Given the description of an element on the screen output the (x, y) to click on. 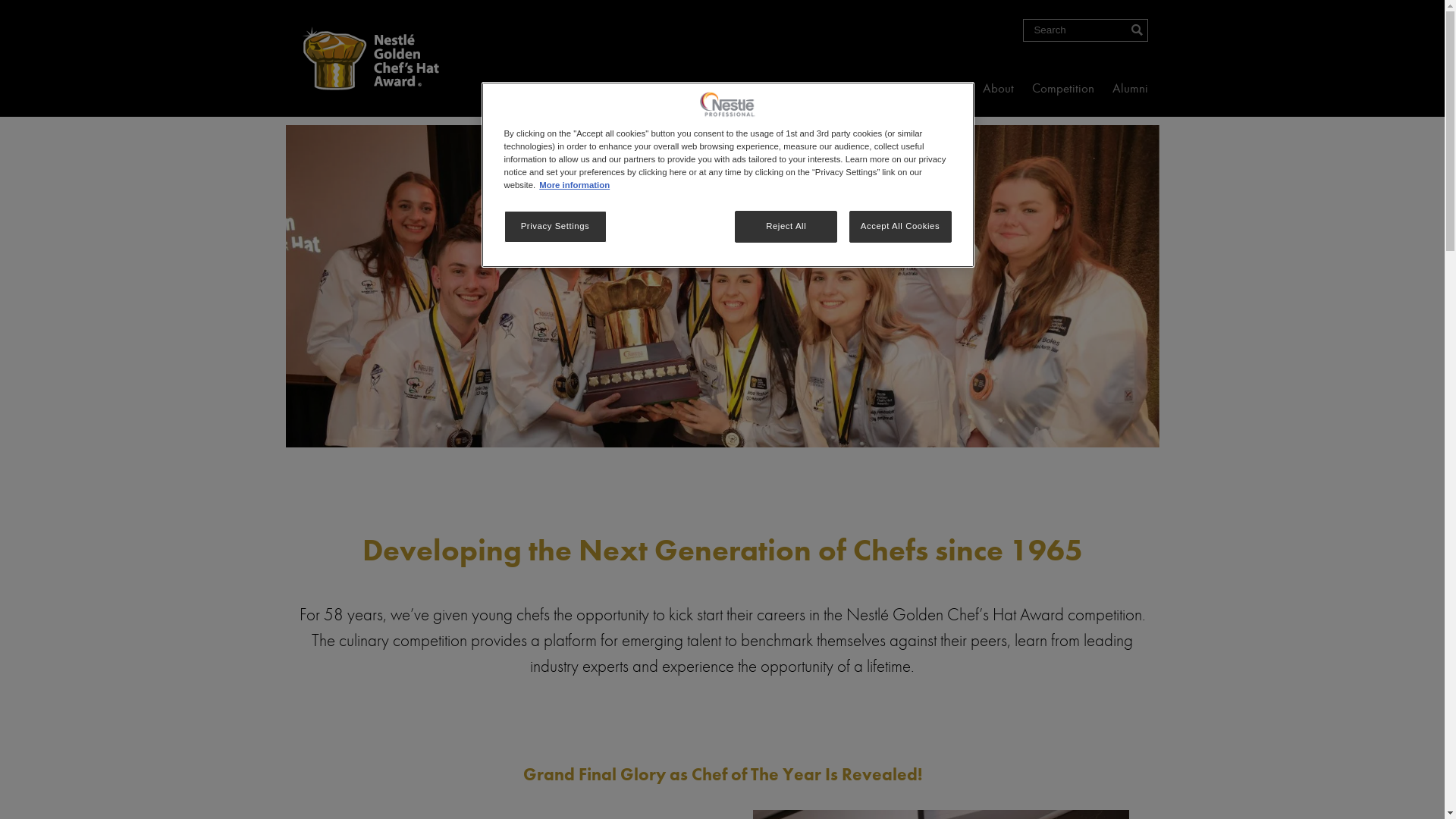
Privacy Settings Element type: text (554, 226)
About Element type: text (997, 88)
More information Element type: text (574, 184)
Enter the terms you wish to search for. Element type: hover (1084, 29)
Company Logo Element type: hover (727, 104)
Skip to main content Element type: text (0, 0)
Reject All Element type: text (785, 226)
Accept All Cookies Element type: text (900, 226)
Alumni Element type: text (1129, 88)
Competition Element type: text (1063, 88)
Search Element type: text (41, 21)
